Given the description of an element on the screen output the (x, y) to click on. 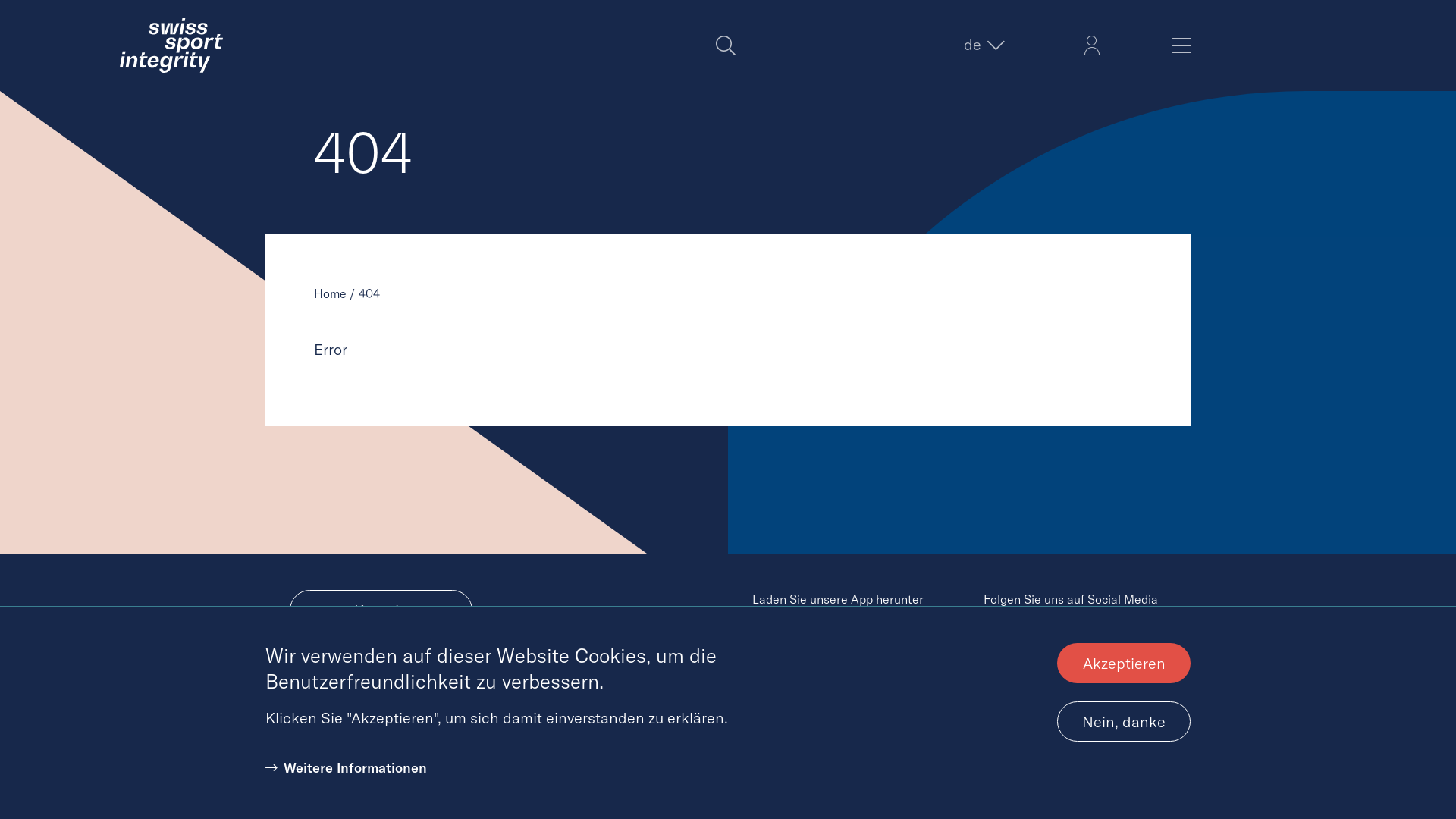
Datenschutz Element type: text (853, 773)
Instagram Element type: text (1089, 638)
Twitter Element type: text (998, 638)
Kontakt Element type: text (380, 609)
Home Element type: hover (170, 45)
de Element type: text (982, 44)
Nein, danke Element type: text (1123, 721)
Impressum Element type: text (782, 773)
Search Element type: text (725, 45)
Login Simon Element type: text (1091, 45)
Vorfall melden Element type: text (380, 659)
Home Element type: text (329, 293)
Android Element type: text (843, 643)
Facebook Element type: text (1044, 638)
Akzeptieren Element type: text (1123, 663)
Weitere Informationen Element type: text (345, 767)
iOS Element type: text (843, 695)
